Given the description of an element on the screen output the (x, y) to click on. 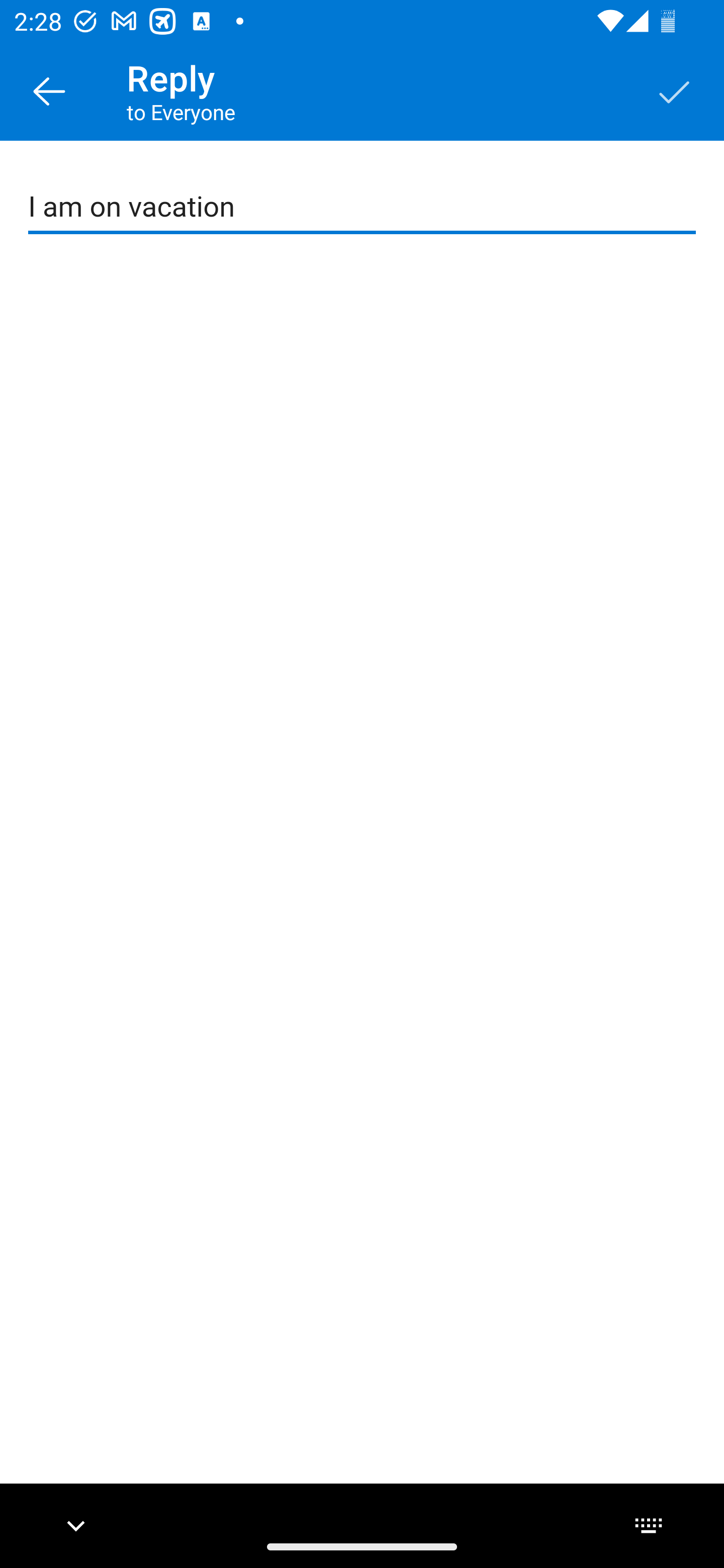
Back (49, 90)
Save (674, 90)
I am on vacation (363, 206)
